Given the description of an element on the screen output the (x, y) to click on. 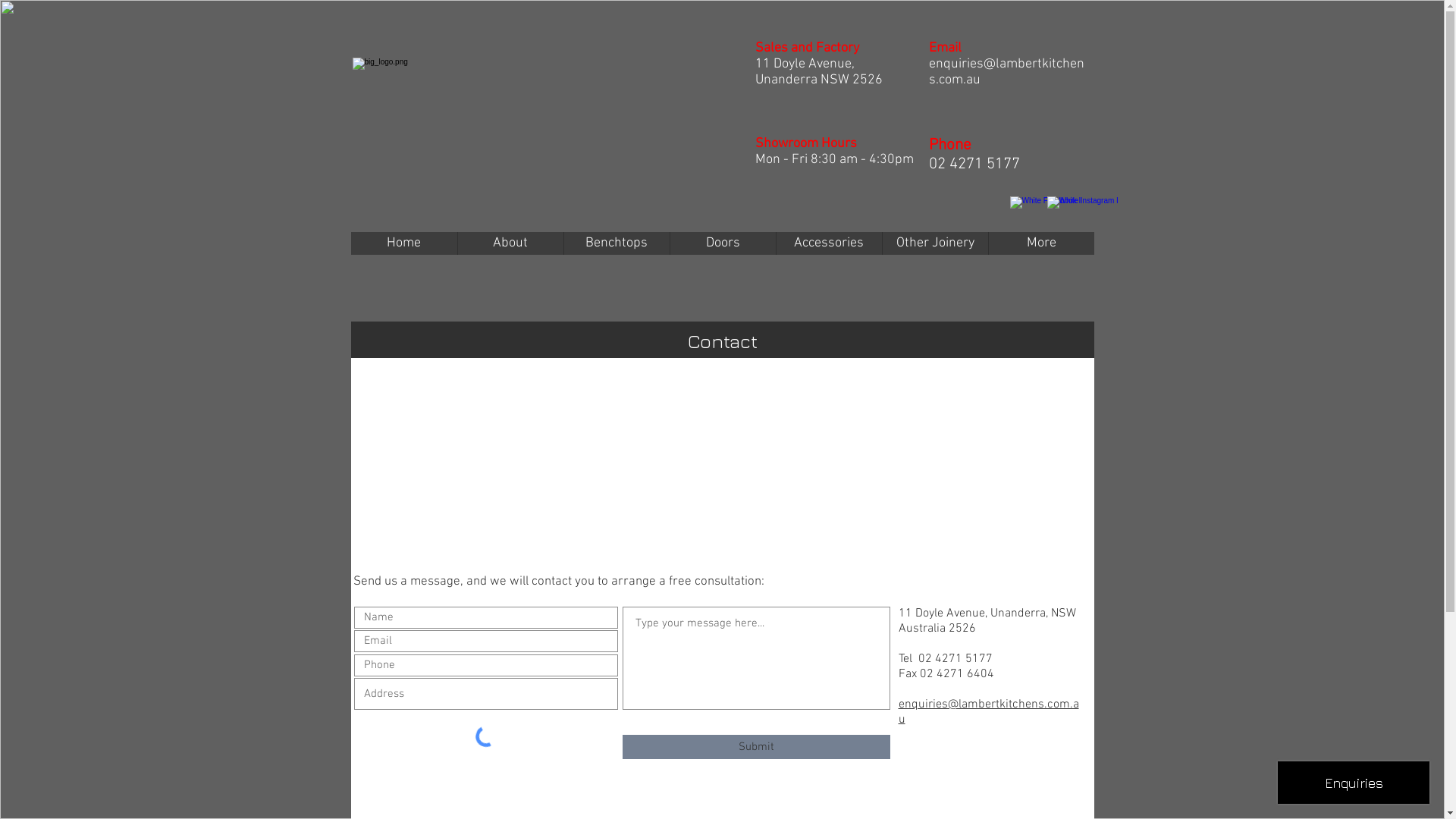
enquiries@lambertkitchens.com.au Element type: text (1005, 71)
About Element type: text (510, 243)
Benchtops Element type: text (616, 243)
Other Joinery Element type: text (935, 243)
11 Doyle Avenue, Unanderra NSW 2526 Element type: text (818, 71)
enquiries@lambertkitchens.com.au Element type: text (987, 711)
Submit Element type: text (755, 746)
Home Element type: text (403, 243)
Accessories Element type: text (828, 243)
Doors Element type: text (722, 243)
Google Maps Element type: hover (722, 450)
